Given the description of an element on the screen output the (x, y) to click on. 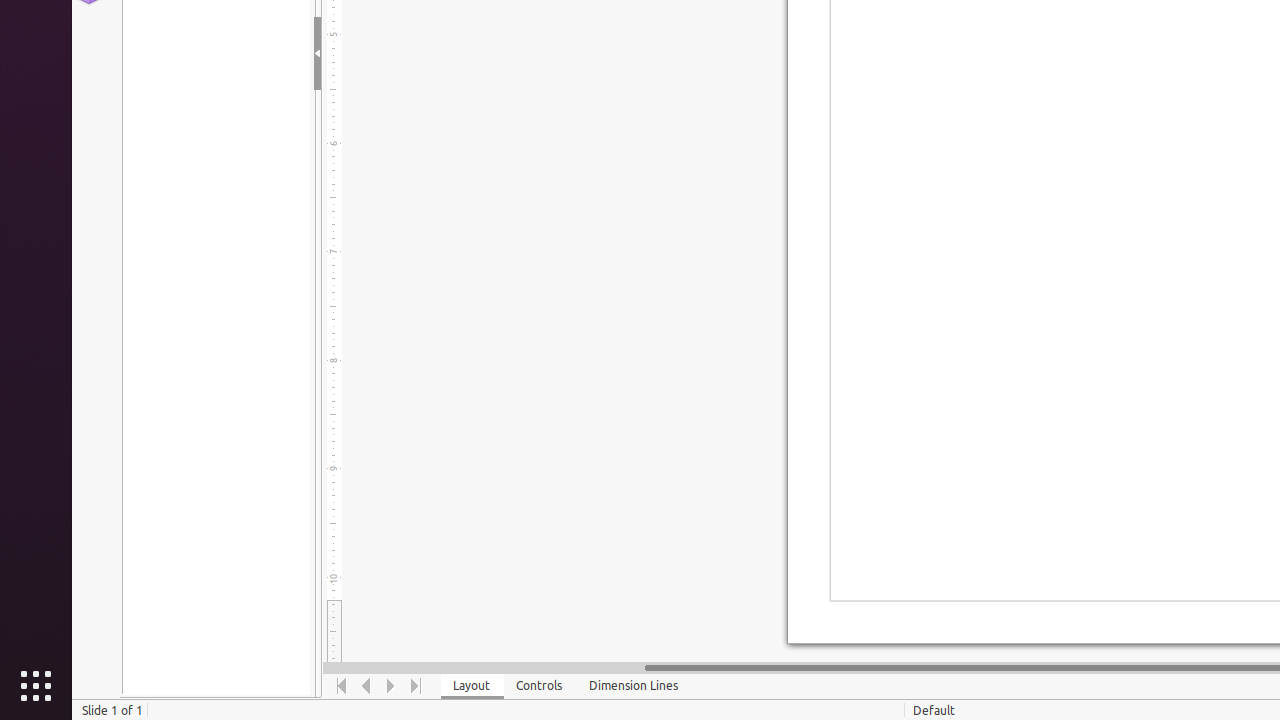
Move To End Element type: push-button (416, 686)
Layout Element type: page-tab (472, 686)
Show Applications Element type: toggle-button (36, 686)
Move Right Element type: push-button (391, 686)
Move Left Element type: push-button (366, 686)
